Given the description of an element on the screen output the (x, y) to click on. 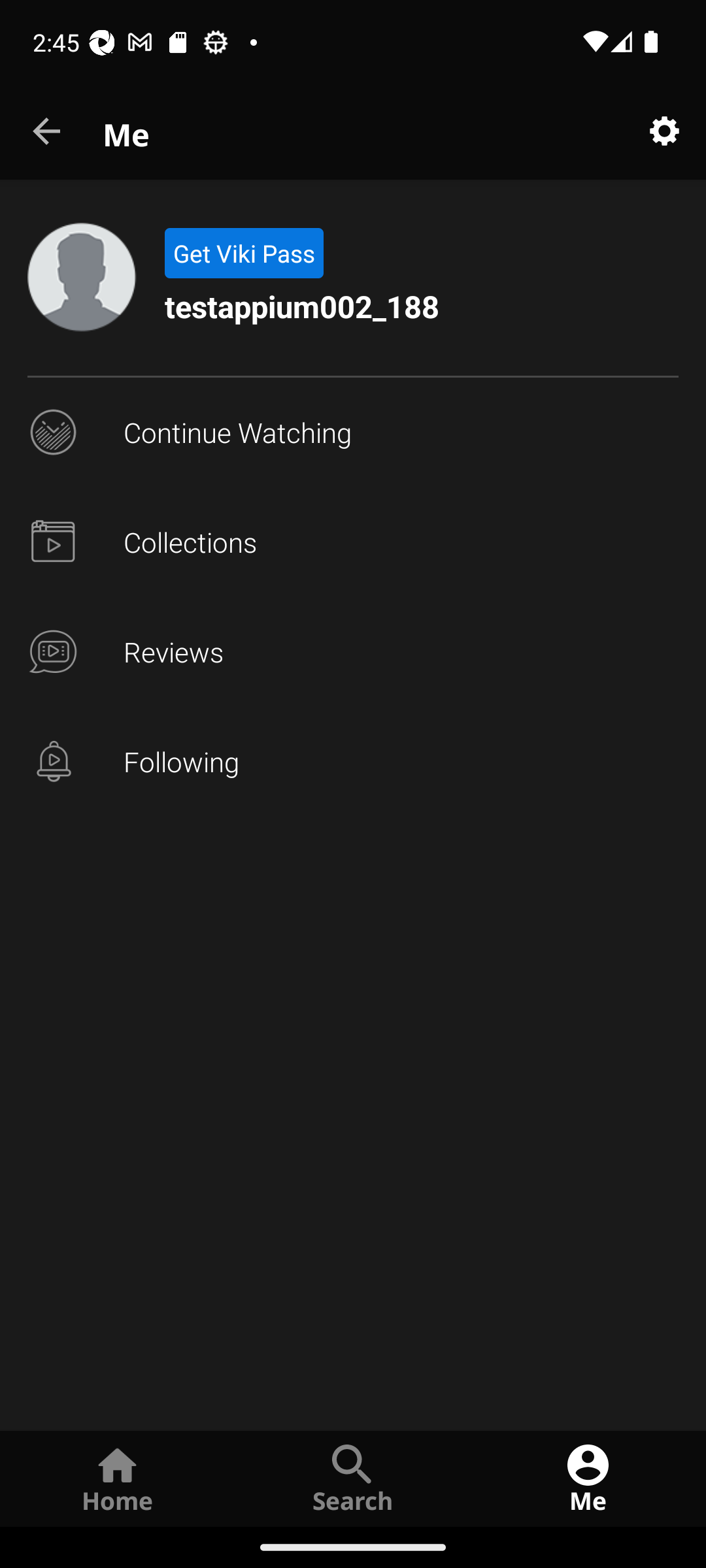
Navigate up (48, 131)
Settings (664, 131)
Get Viki Pass (243, 253)
Continue Watching (353, 432)
profile_page_user_collections Collections (353, 542)
Reviews (353, 652)
Following (353, 761)
Home (117, 1478)
Search (352, 1478)
